Given the description of an element on the screen output the (x, y) to click on. 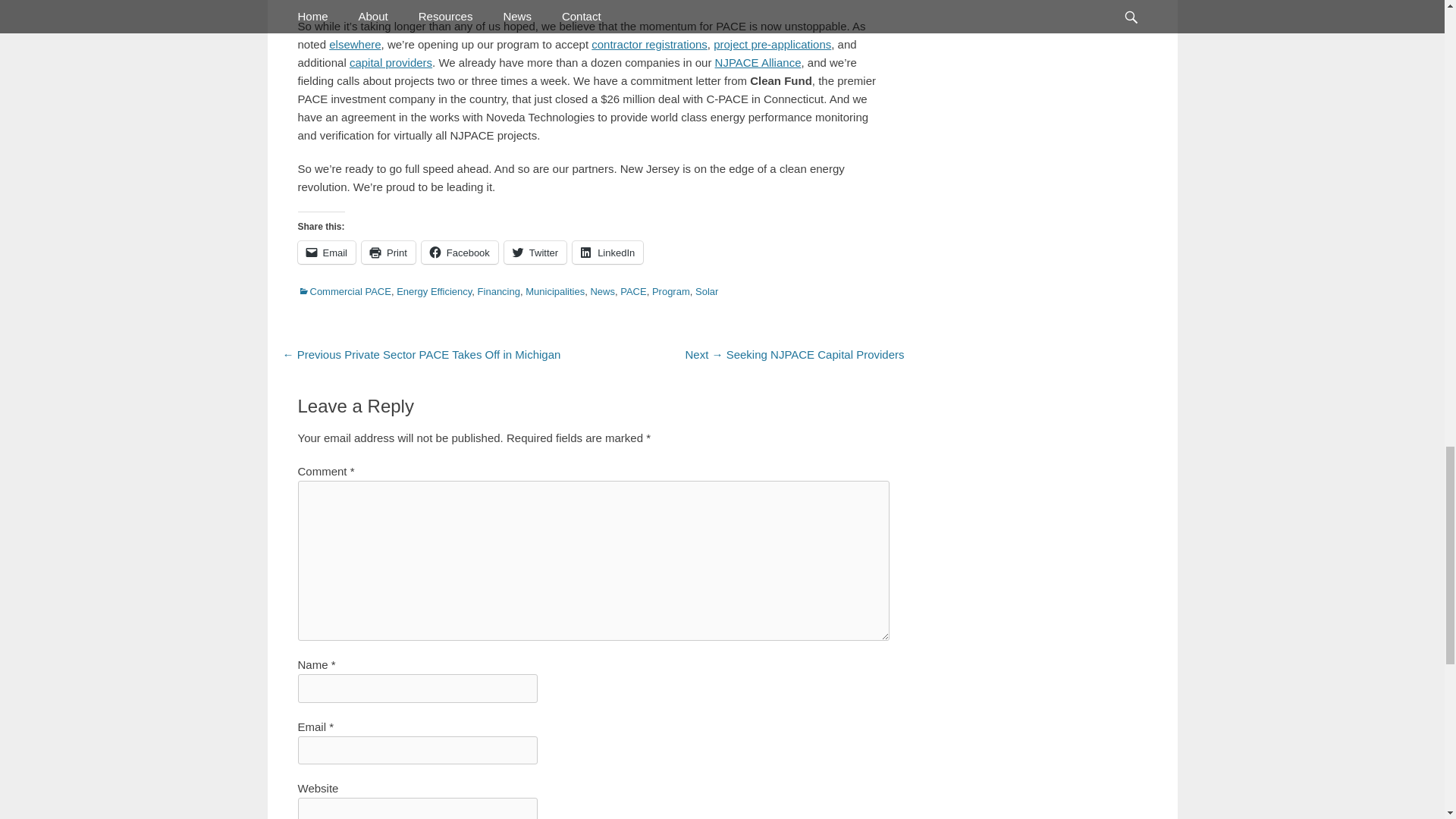
Click to print (387, 251)
Click to email a link to a friend (326, 251)
elsewhere (354, 43)
Click to share on Twitter (534, 251)
Click to share on LinkedIn (607, 251)
Click to share on Facebook (459, 251)
